Given the description of an element on the screen output the (x, y) to click on. 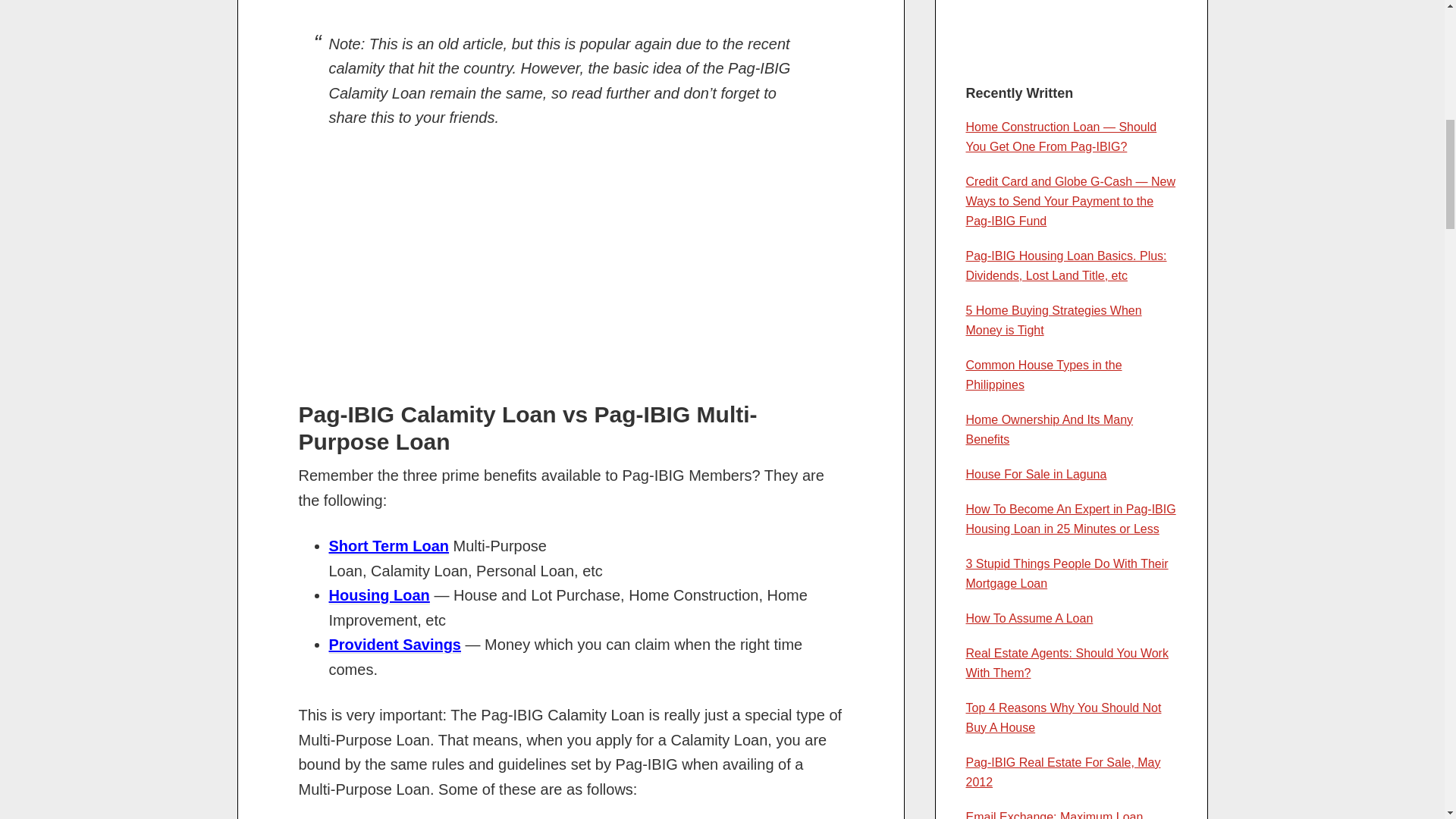
Housing Loan (379, 595)
pag-ibig housing loan (379, 595)
Provident Savings (395, 644)
Short Term Loan (389, 546)
pag-ibig shor term loan (389, 546)
provident savings (395, 644)
